Given the description of an element on the screen output the (x, y) to click on. 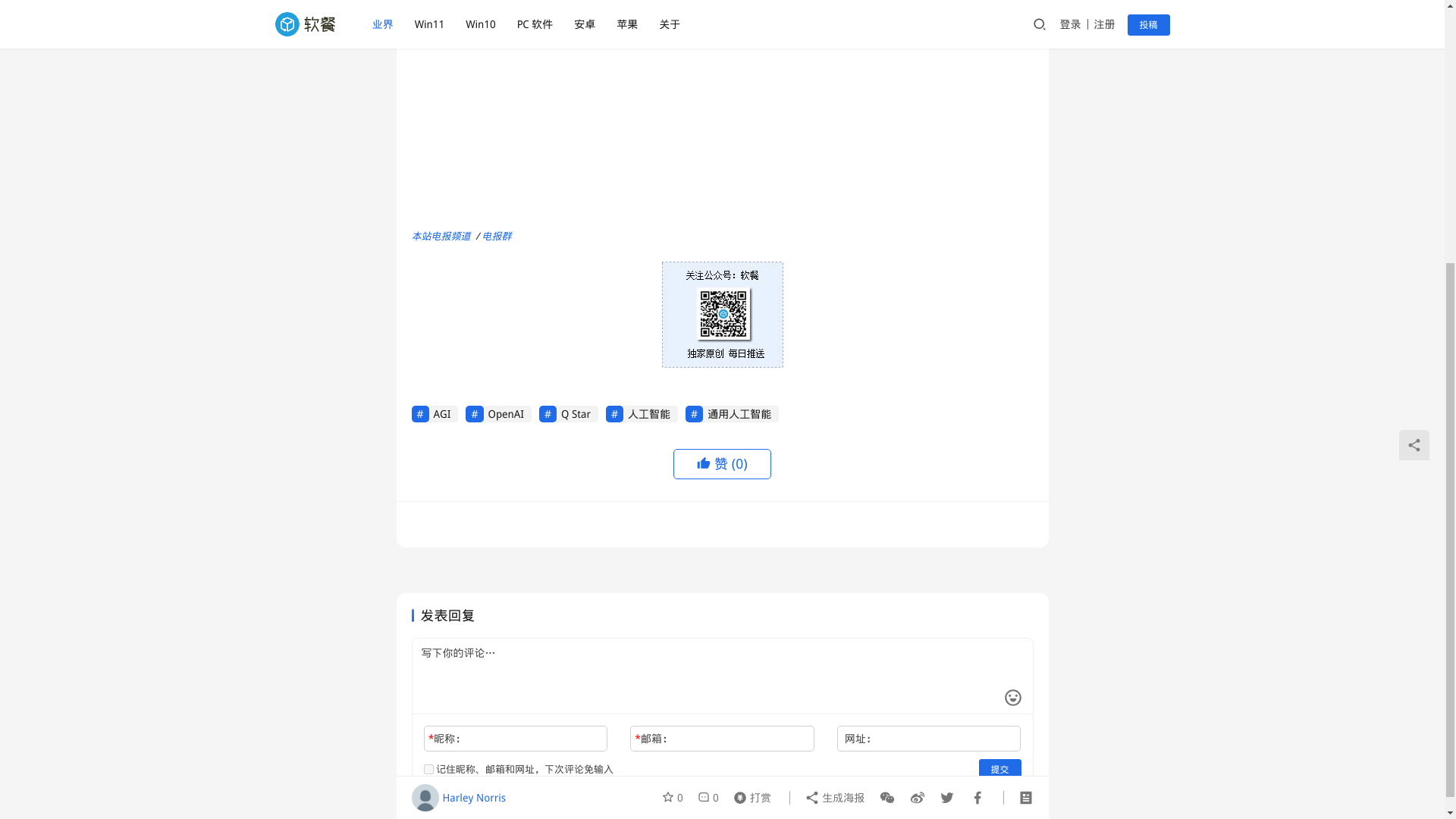
OpenAI (498, 413)
Advertisement (721, 138)
Harley Norris (457, 410)
AGI (434, 413)
Q Star (568, 413)
0 (707, 410)
yes (427, 768)
0 (675, 410)
